Given the description of an element on the screen output the (x, y) to click on. 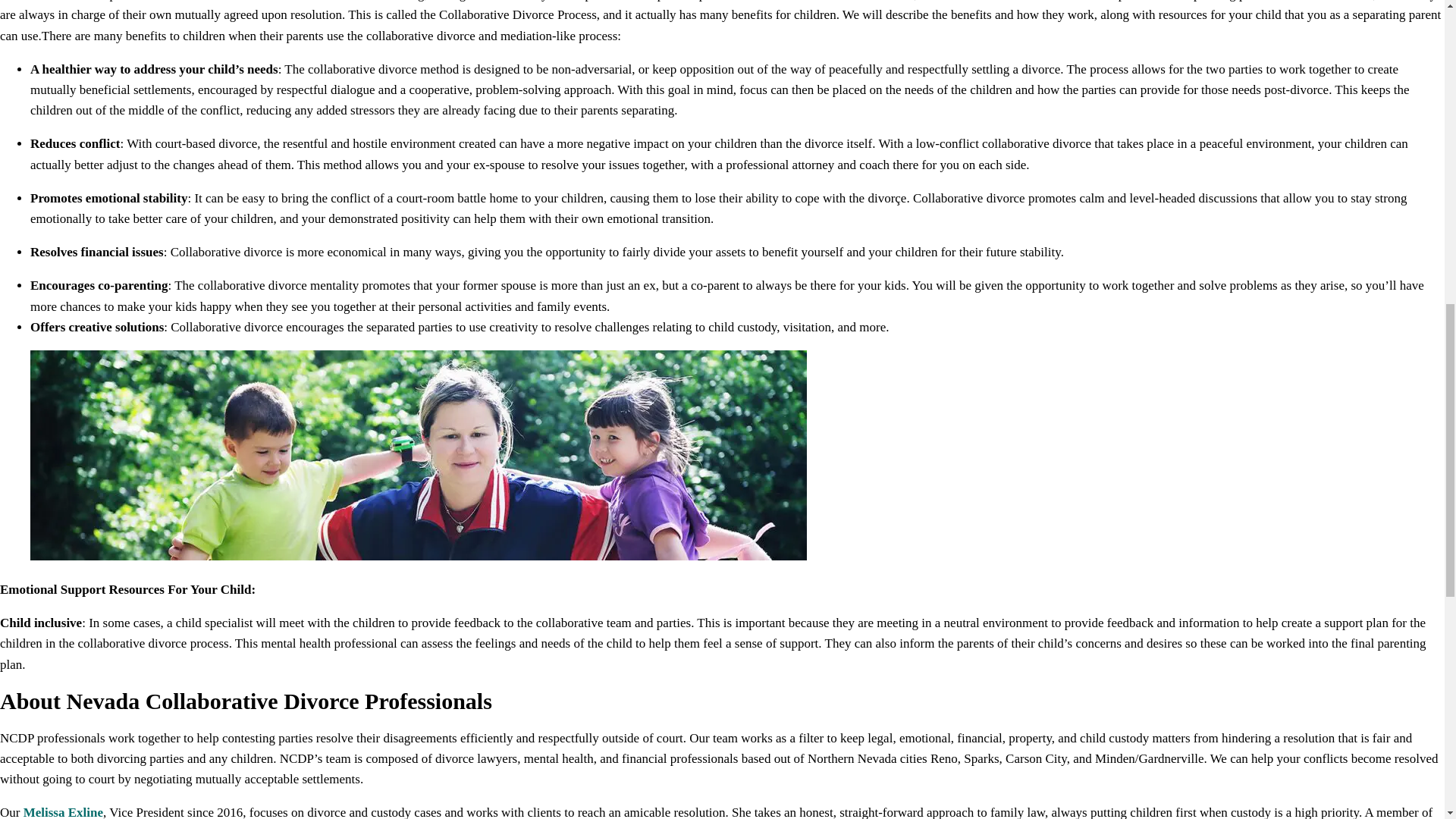
Melissa Exline (63, 812)
